Given the description of an element on the screen output the (x, y) to click on. 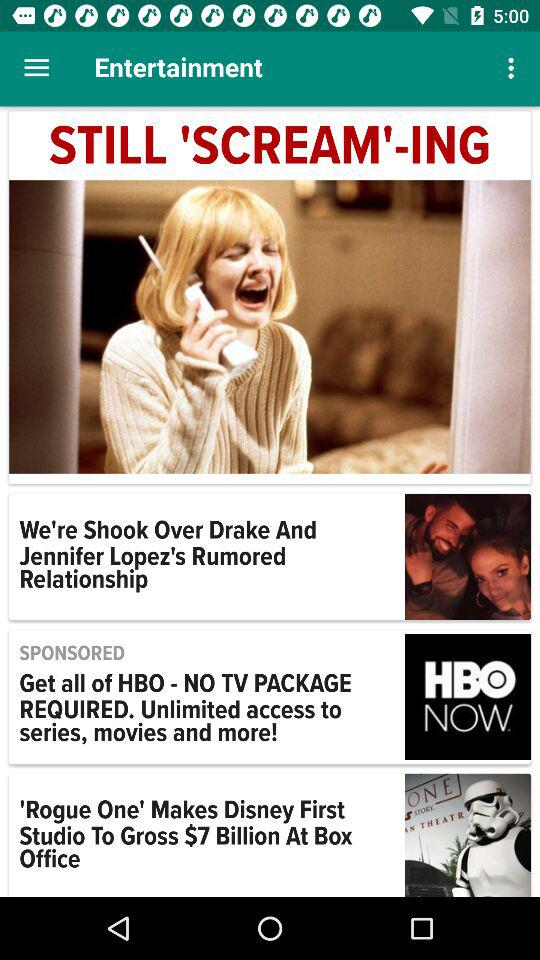
click the item at the top right corner (513, 67)
